Given the description of an element on the screen output the (x, y) to click on. 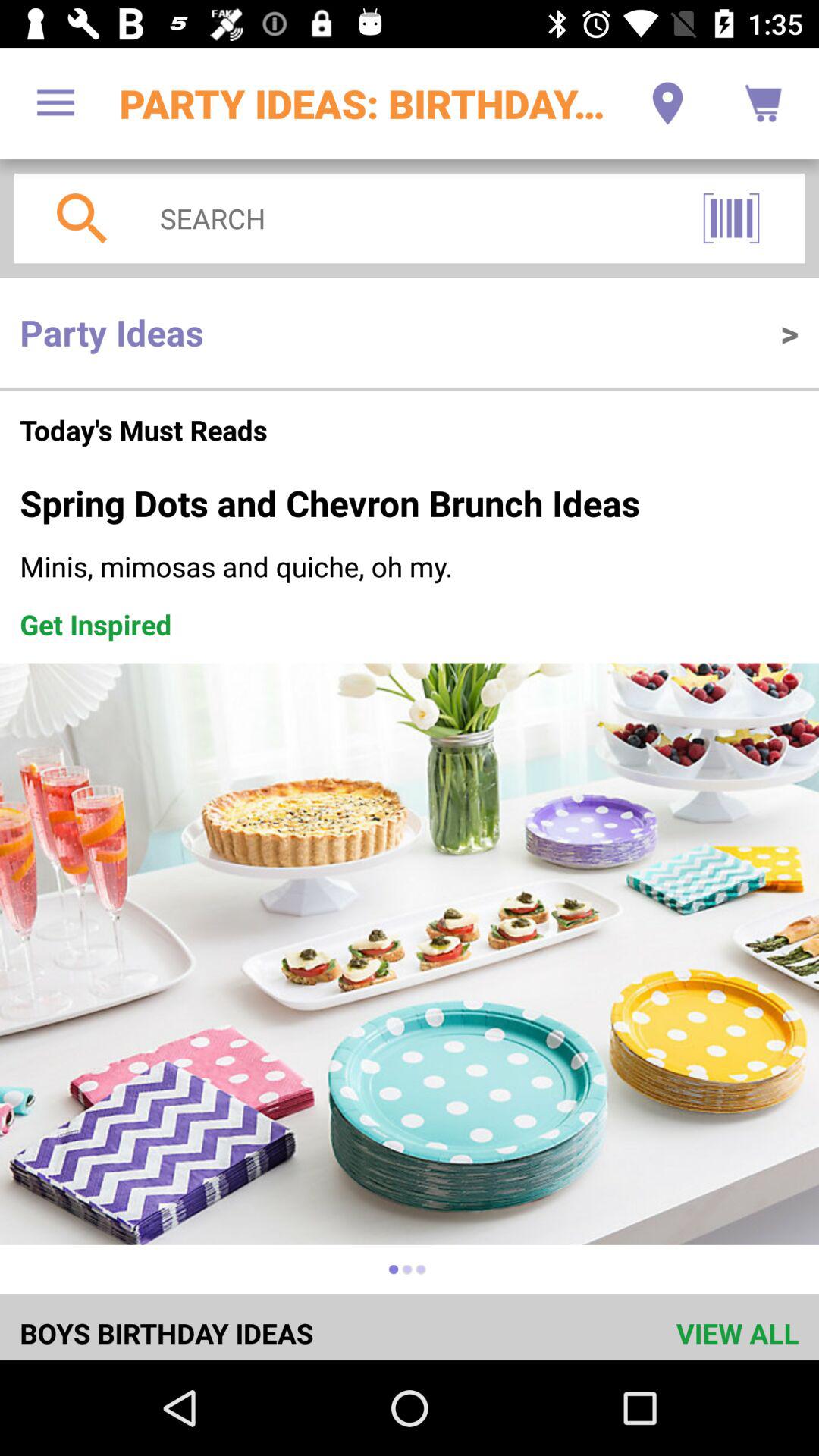
select the icon above the get inspired item (409, 566)
